Given the description of an element on the screen output the (x, y) to click on. 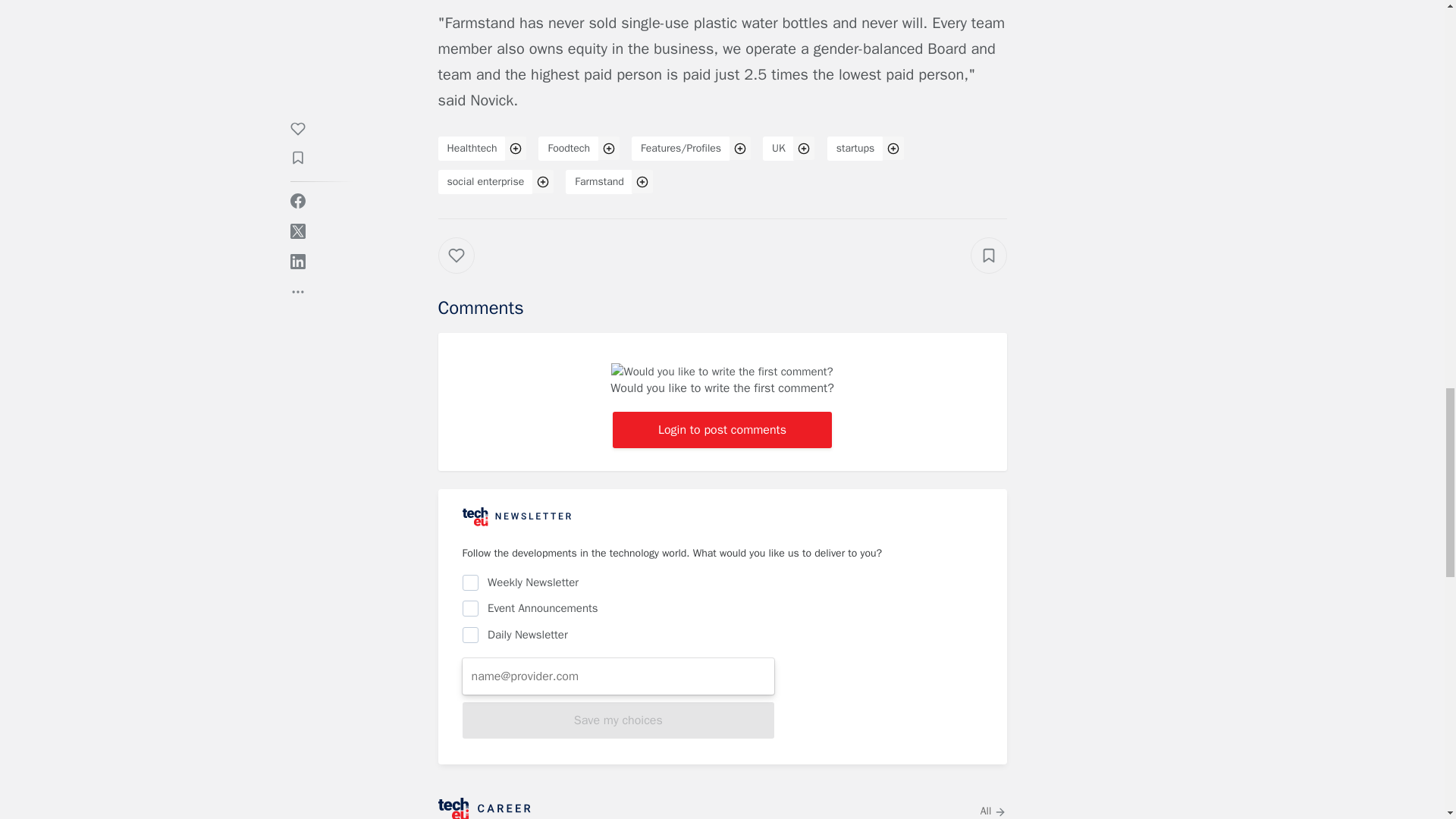
Like (467, 269)
Foodtech (568, 148)
Farmstand (599, 181)
Healthtech (472, 148)
startups (855, 148)
UK (778, 148)
social enterprise (486, 181)
